Given the description of an element on the screen output the (x, y) to click on. 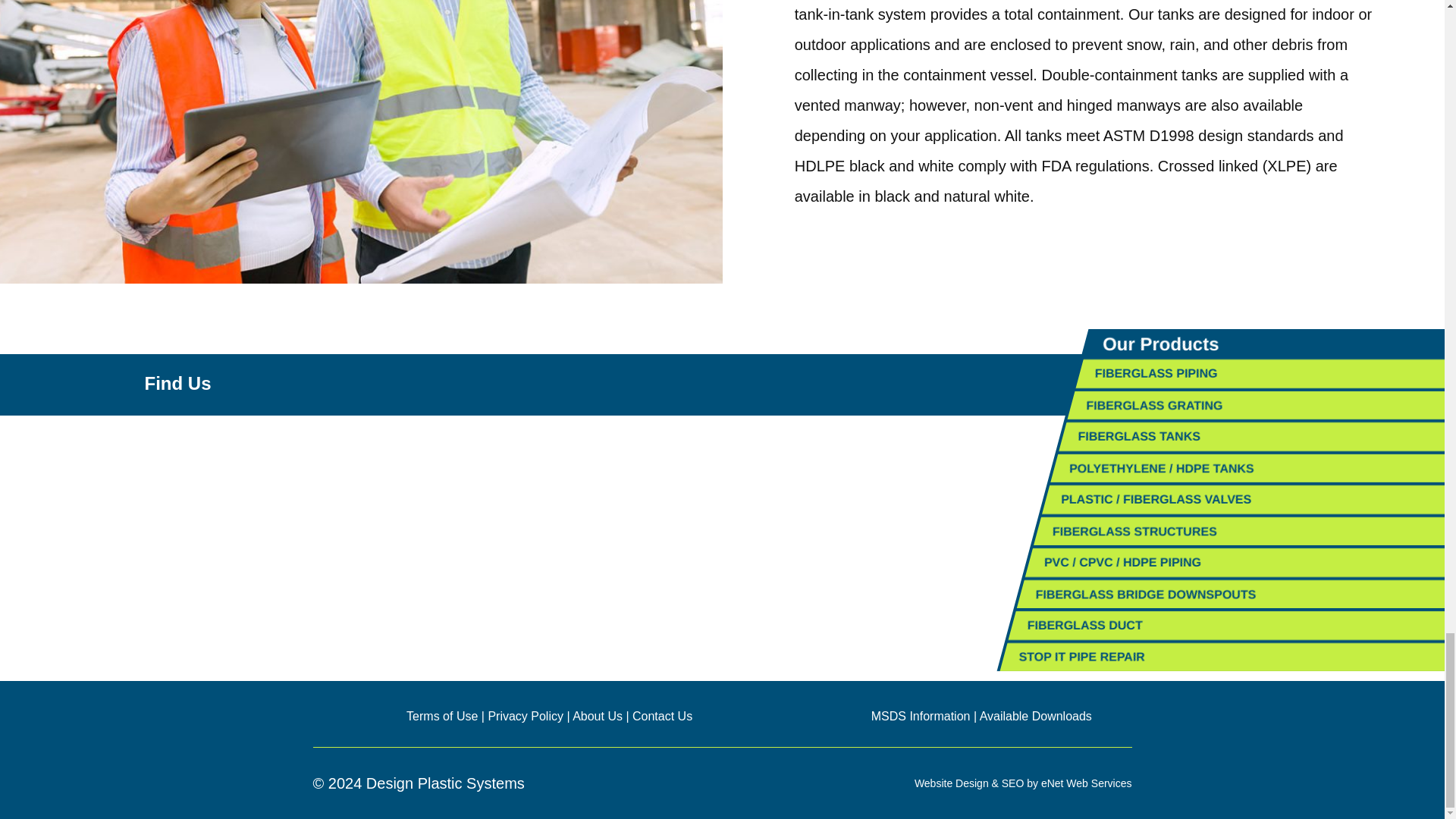
MSDS Information (920, 716)
Contact Us (662, 716)
Privacy Policy (525, 716)
About Us (597, 716)
Terms of Use (441, 716)
Available Downloads (1035, 716)
